Given the description of an element on the screen output the (x, y) to click on. 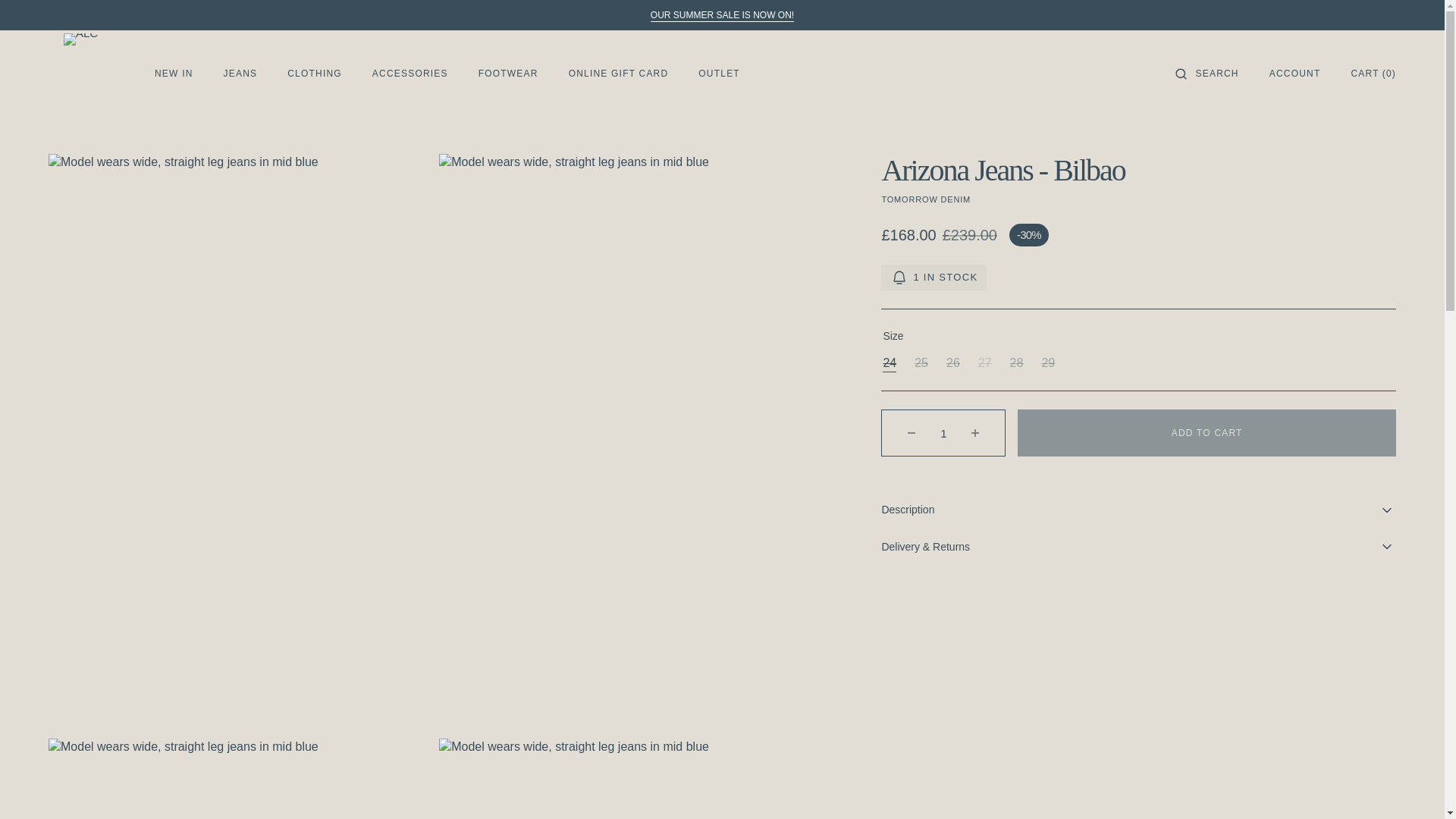
1 (943, 432)
Account (1294, 73)
Search (1217, 73)
Online Gift Card (618, 73)
Outlet (721, 15)
OUR SUMMER SALE IS NOW ON! (721, 15)
